Given the description of an element on the screen output the (x, y) to click on. 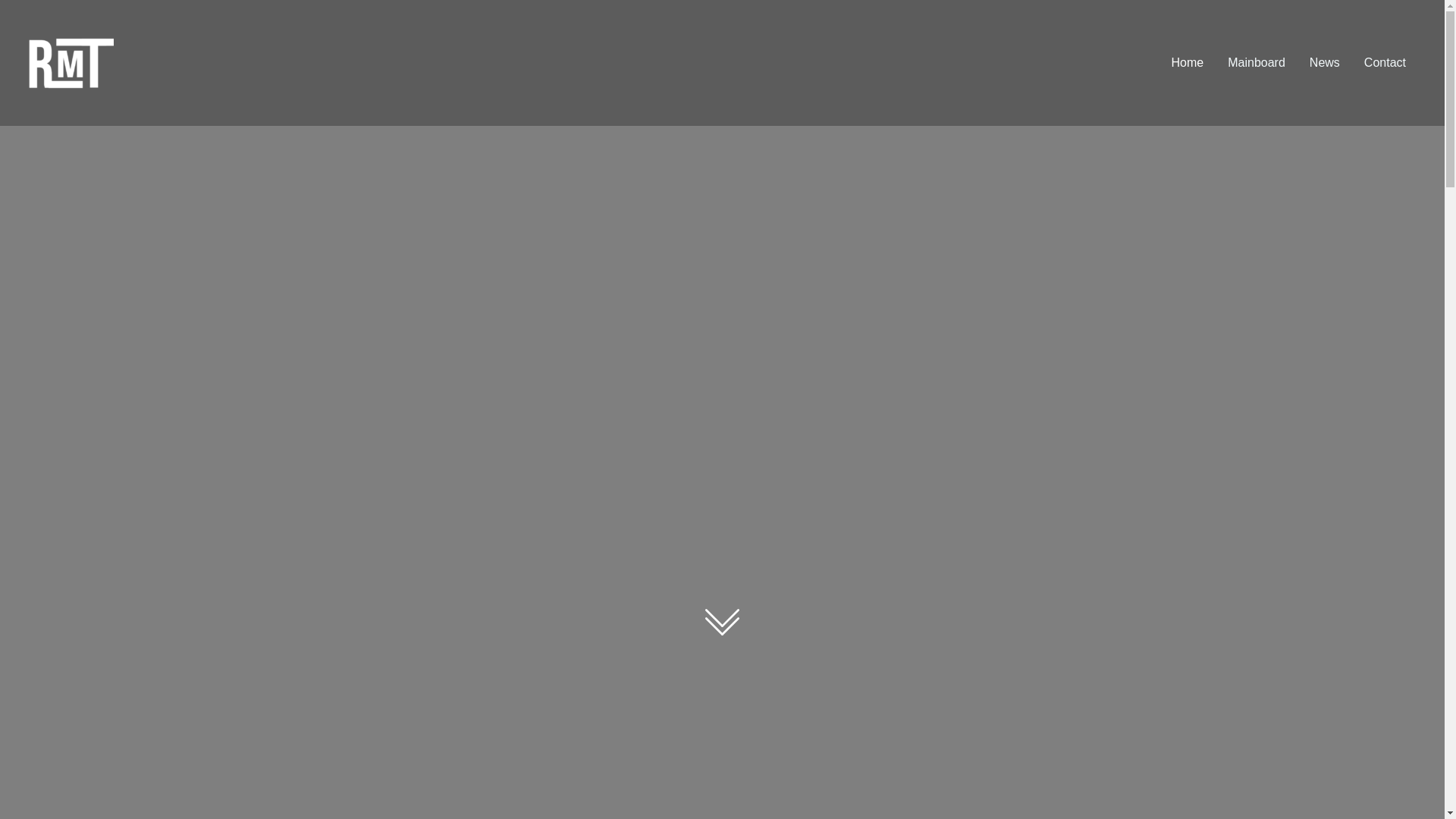
Contact (1385, 62)
News (1324, 62)
Mainboard (1256, 62)
Home (1186, 62)
